Given the description of an element on the screen output the (x, y) to click on. 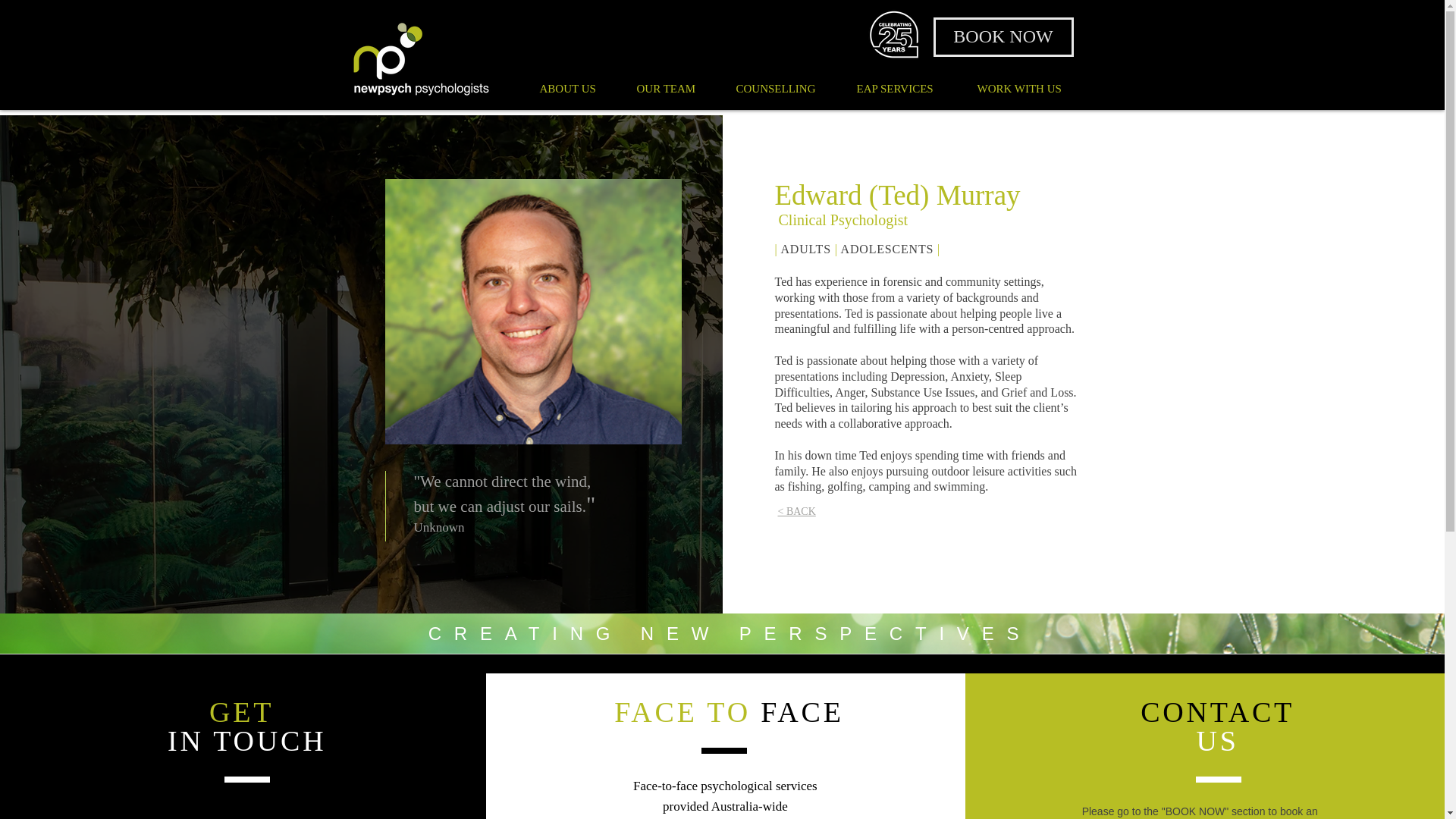
OUR TEAM (673, 88)
EAP SERVICES (904, 88)
COUNSELLING (785, 88)
BOOK NOW (1003, 36)
WORK WITH US (1030, 88)
ABOUT US (575, 88)
